Given the description of an element on the screen output the (x, y) to click on. 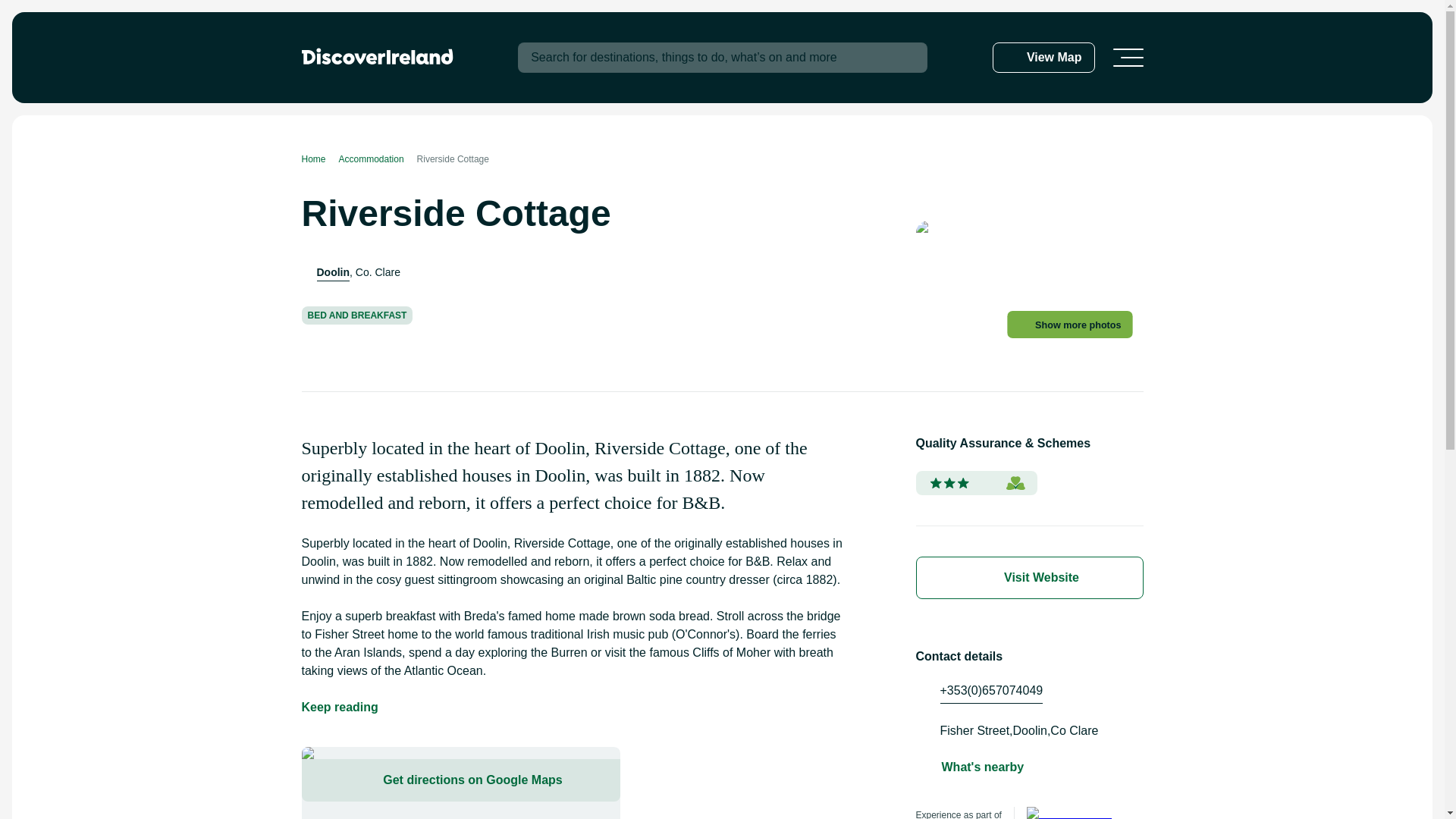
View Map (1043, 57)
Accommodation (377, 158)
Show more photos (1077, 326)
Visit Website (1028, 577)
Home (320, 159)
Wild Atlantic Way (1070, 812)
Click to go back to the homepage (376, 55)
Get directions on Google Maps (460, 780)
BED AND BREAKFAST (357, 315)
Doolin (333, 272)
What's nearby (983, 767)
Keep reading (339, 707)
Get directions on Google Maps (460, 782)
